Given the description of an element on the screen output the (x, y) to click on. 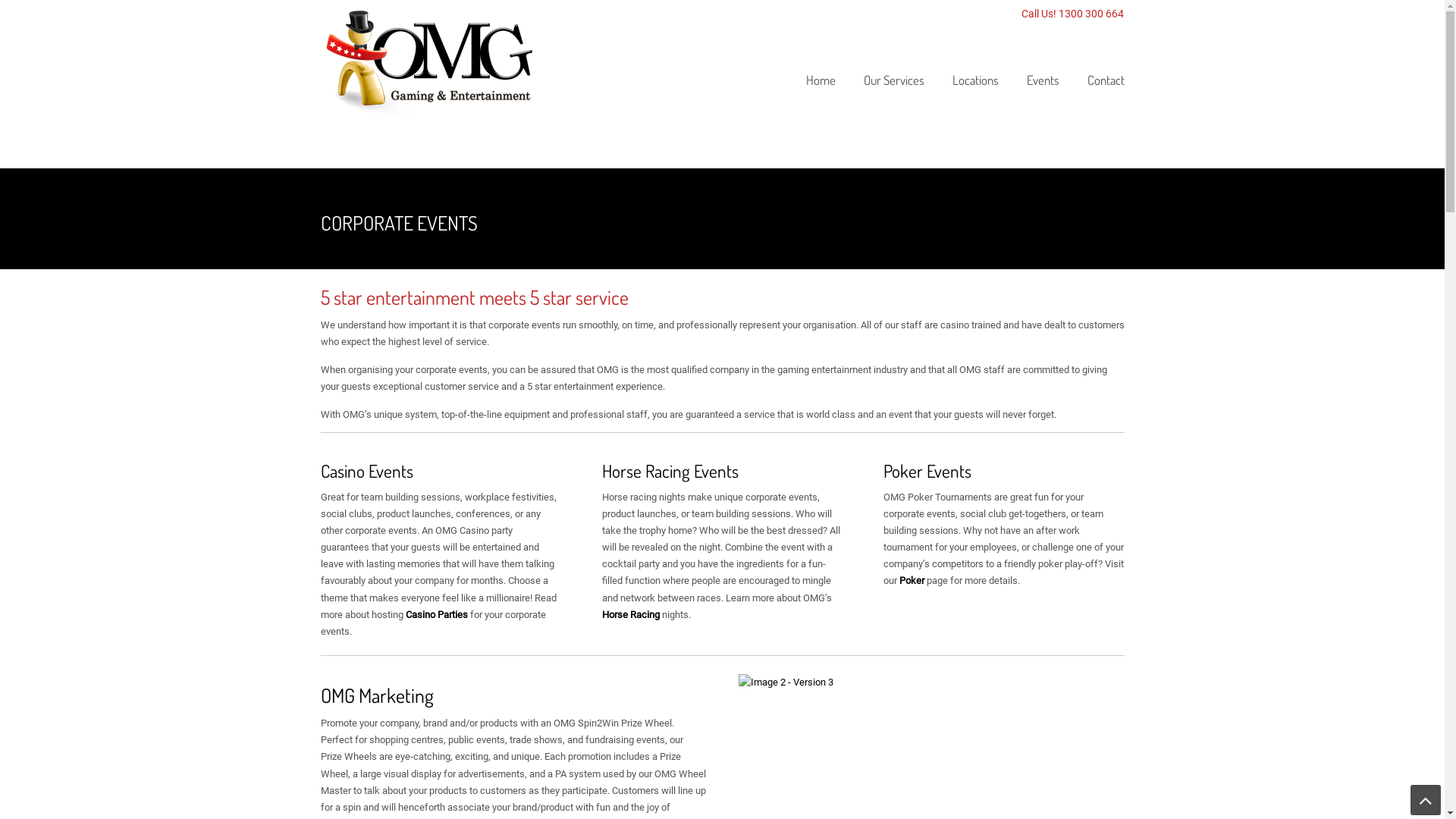
OMG Marketing Element type: text (376, 694)
Horse Racing Events Element type: text (670, 470)
Our Services Element type: text (892, 80)
Locations Element type: text (975, 80)
OMG Gaming & Entertainment Element type: text (433, 61)
Contact Element type: text (1105, 80)
Casino Events Element type: text (366, 470)
Horse Racing Element type: text (630, 614)
Poker Events Element type: text (926, 470)
Poker Element type: text (911, 580)
Events Element type: text (1042, 80)
Home Element type: text (820, 80)
Casino Parties Element type: text (435, 614)
